Given the description of an element on the screen output the (x, y) to click on. 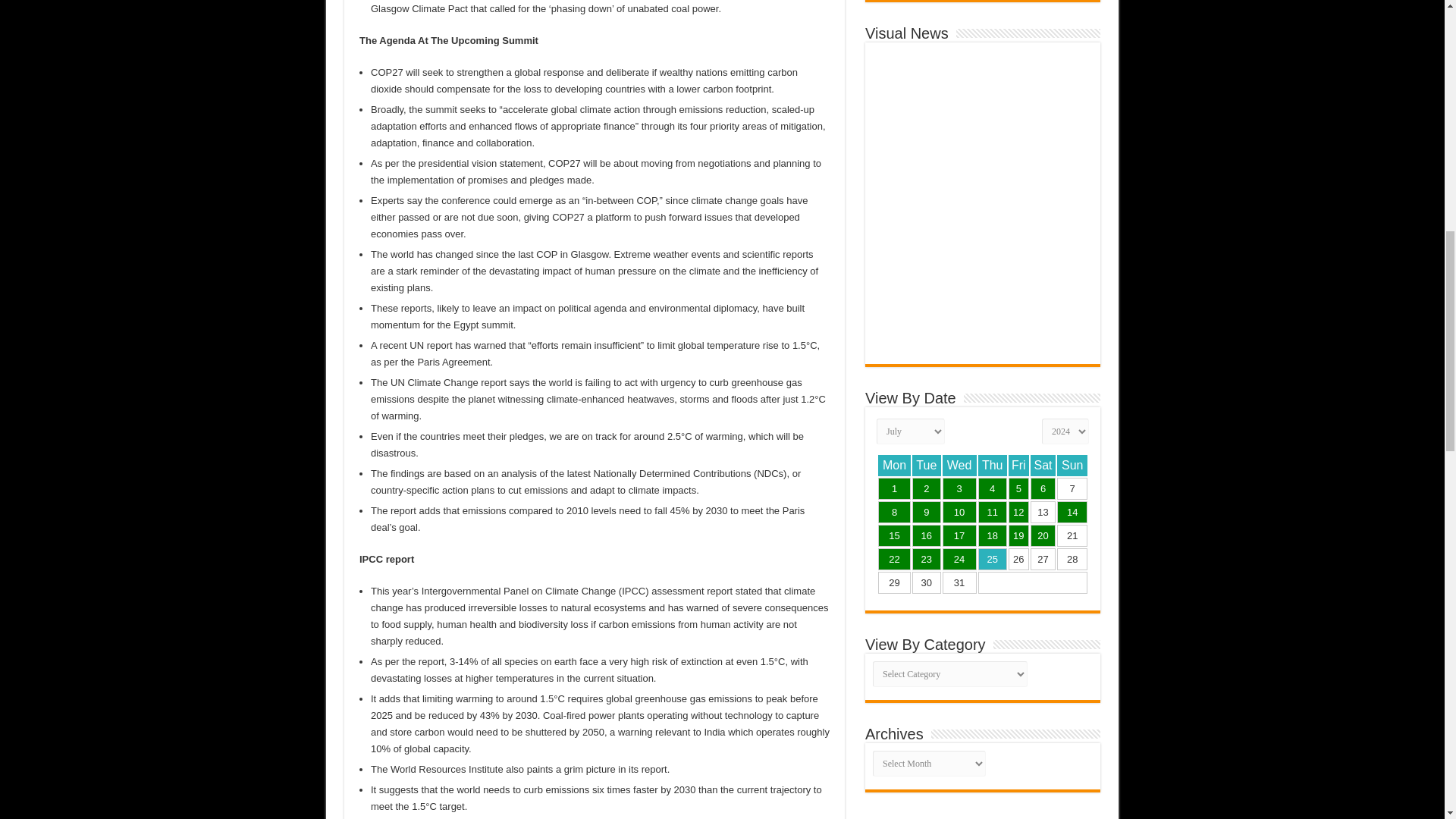
Friday (1019, 465)
Tuesday (926, 465)
Saturday (1043, 465)
Sunday (1072, 465)
Sustainable Development in the Indian Himalayan Region (894, 488)
Wednesday (959, 465)
Monday (894, 465)
Thursday (992, 465)
